Given the description of an element on the screen output the (x, y) to click on. 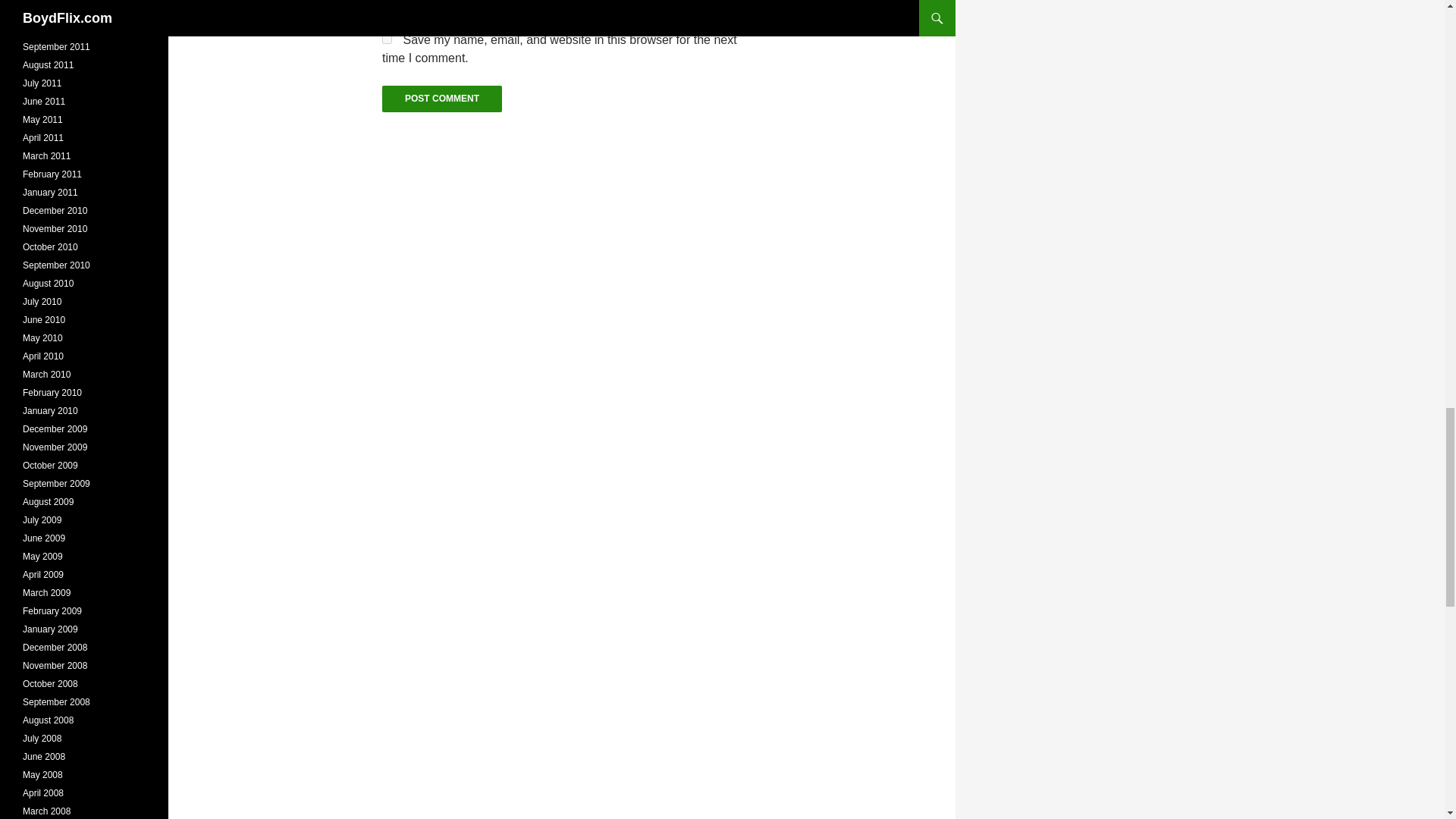
Post Comment (441, 98)
yes (386, 39)
Post Comment (441, 98)
